Given the description of an element on the screen output the (x, y) to click on. 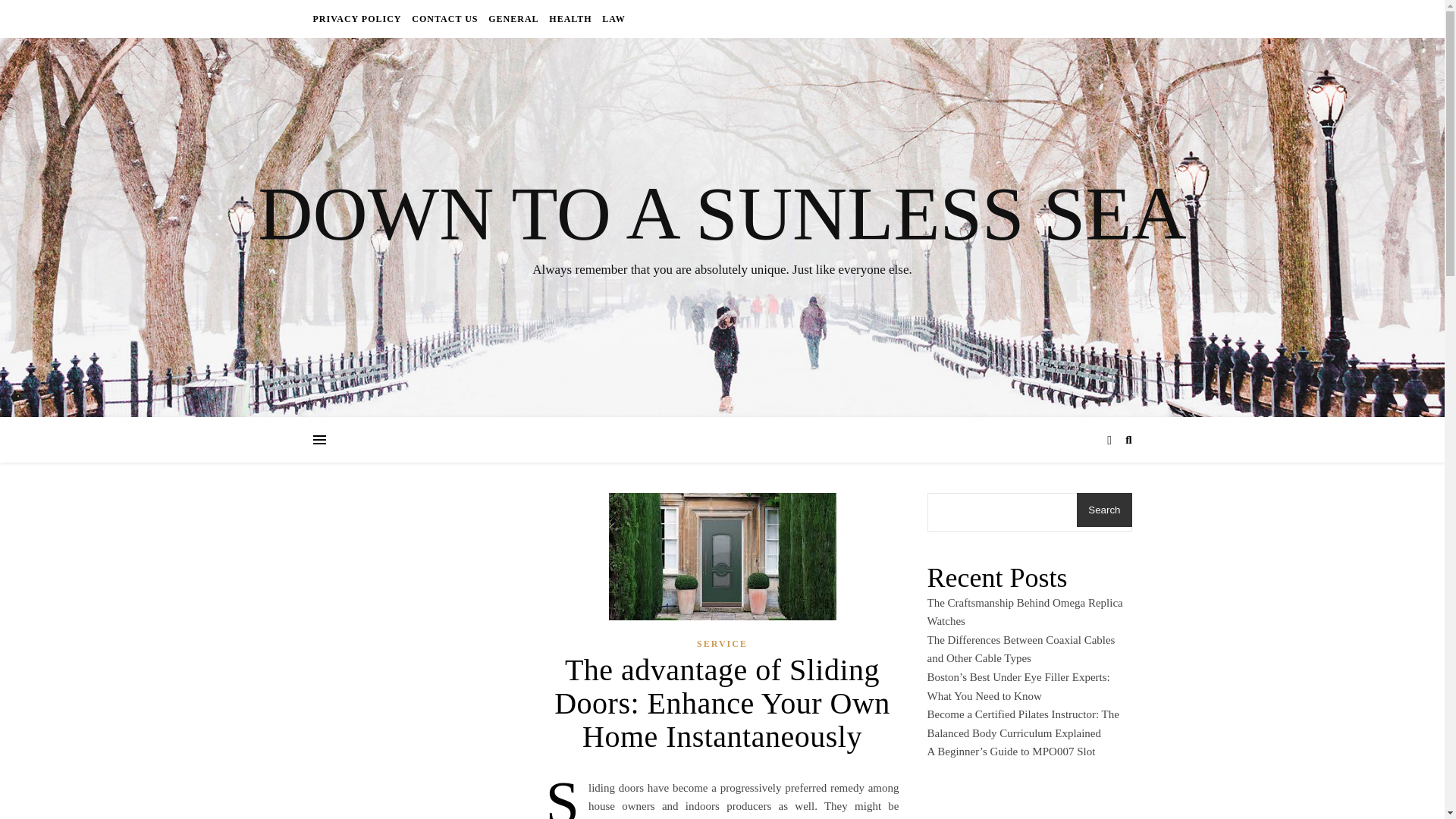
The Craftsmanship Behind Omega Replica Watches (1024, 612)
SERVICE (722, 643)
GENERAL (512, 18)
PRIVACY POLICY (358, 18)
The Differences Between Coaxial Cables and Other Cable Types (1020, 649)
Search (1104, 510)
HEALTH (569, 18)
CONTACT US (444, 18)
